Given the description of an element on the screen output the (x, y) to click on. 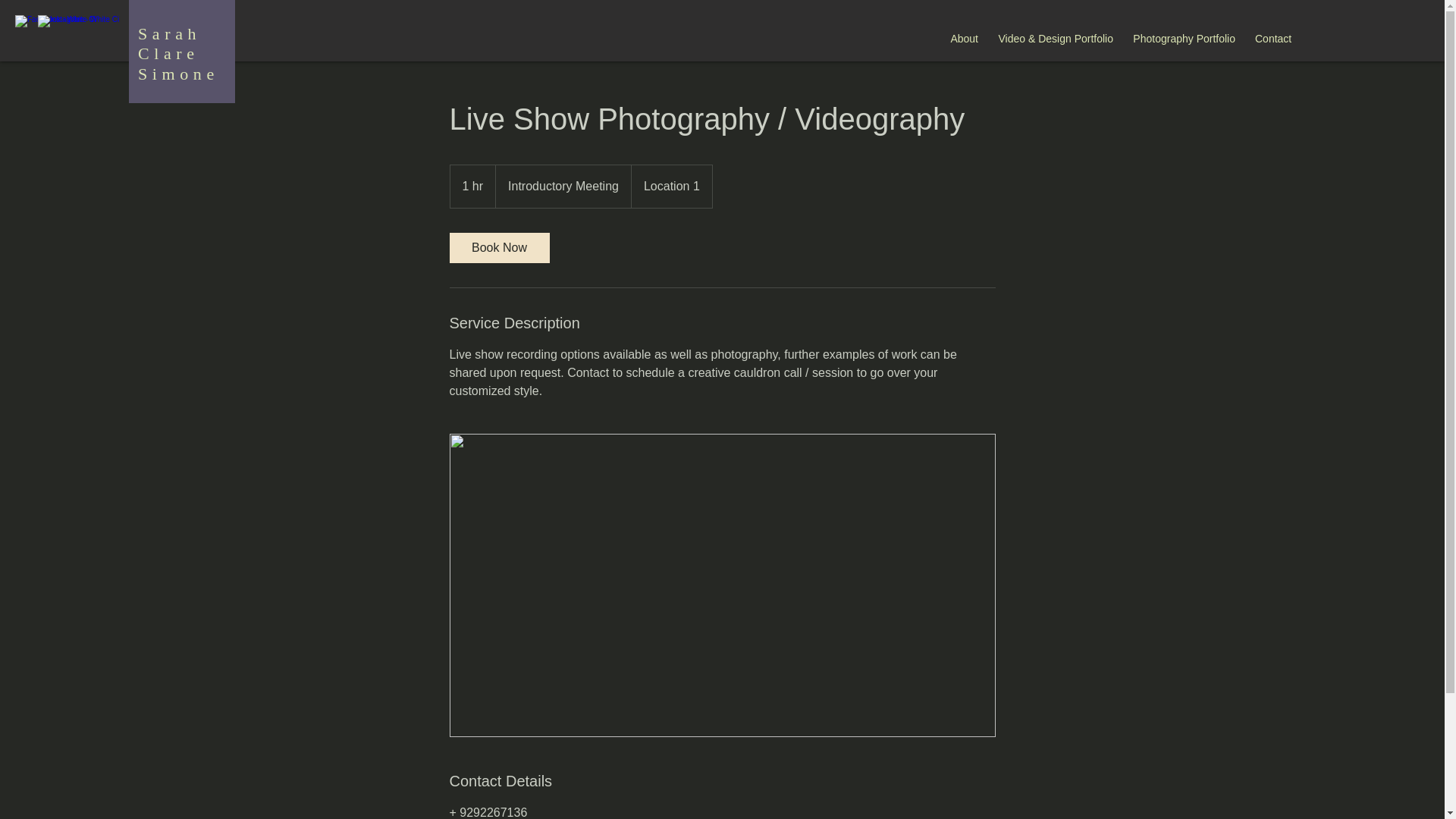
Contact (1272, 38)
Sarah Clare Simone (178, 53)
Photography Portfolio (1183, 38)
About (964, 38)
Book Now (498, 247)
